Given the description of an element on the screen output the (x, y) to click on. 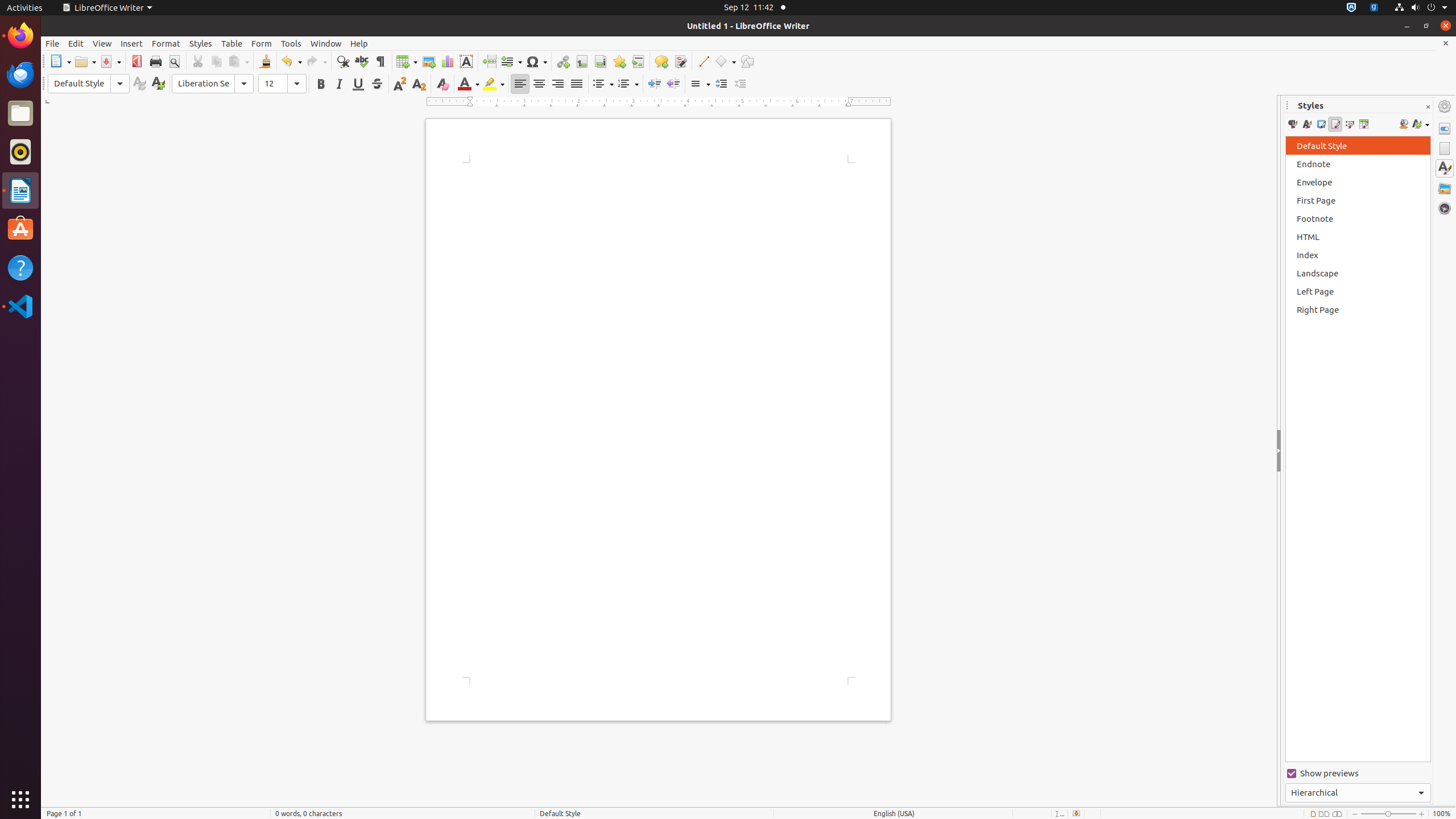
Page Element type: radio-button (1444, 148)
Paragraph Style Element type: combo-box (88, 83)
Text Box Element type: push-button (465, 61)
Italic Element type: toggle-button (338, 83)
Table Element type: push-button (406, 61)
